Given the description of an element on the screen output the (x, y) to click on. 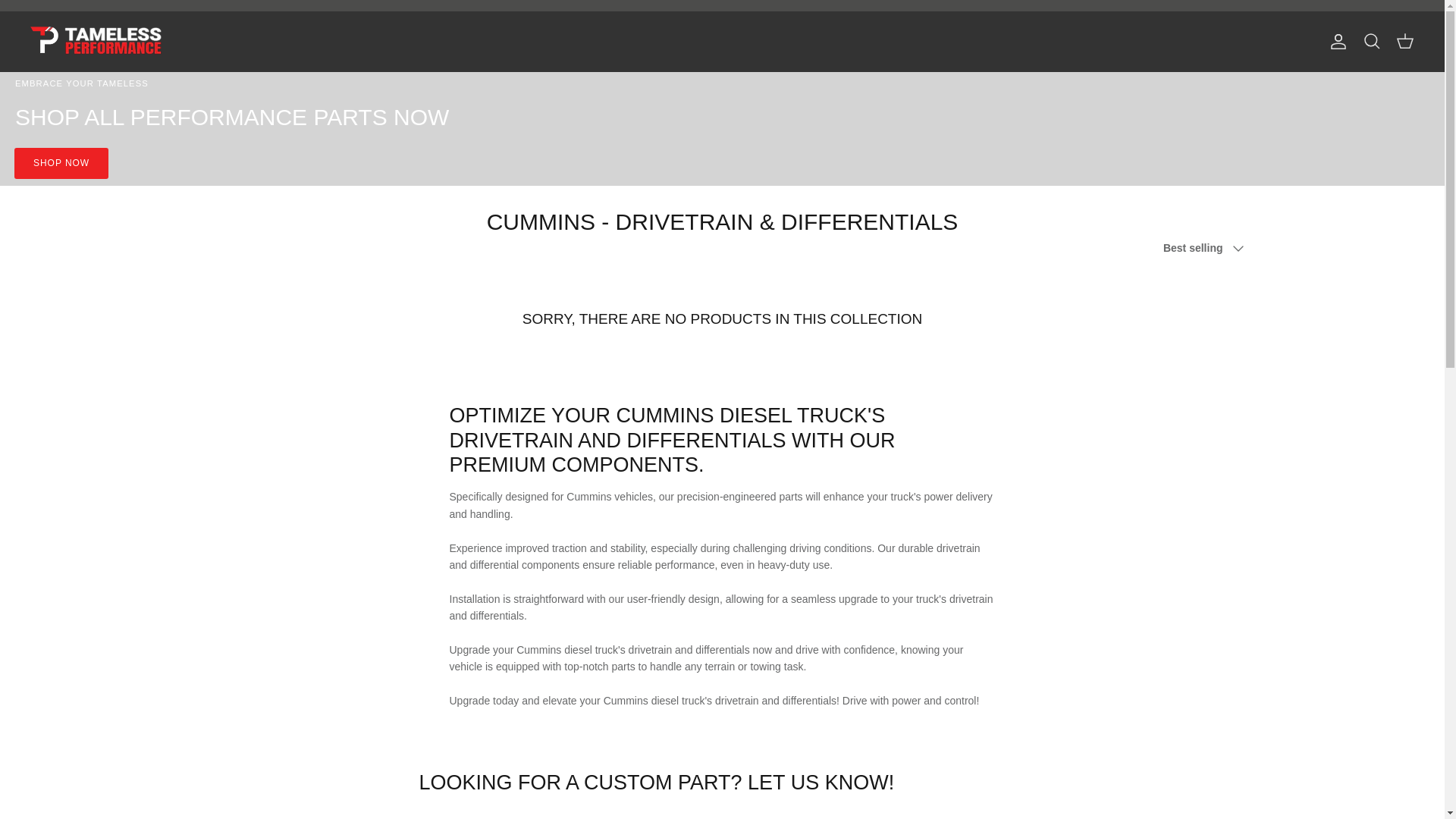
Search (1371, 41)
Best selling (1208, 248)
Cart (1404, 41)
TAMELESS PERFORMANCE (96, 41)
Account (1335, 41)
